Given the description of an element on the screen output the (x, y) to click on. 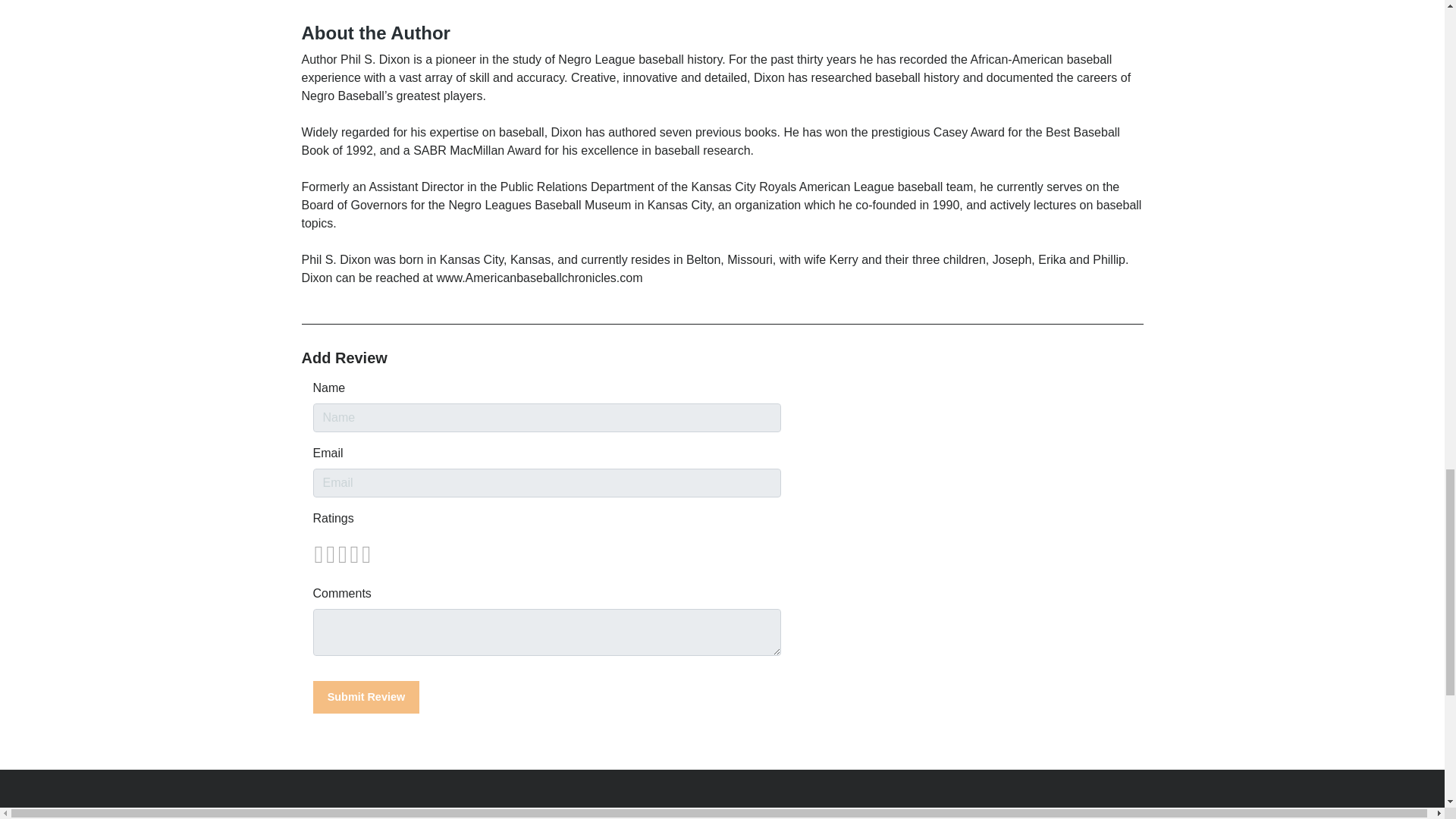
Submit Review (366, 696)
Submit Review (366, 696)
Not Rated (342, 554)
